Given the description of an element on the screen output the (x, y) to click on. 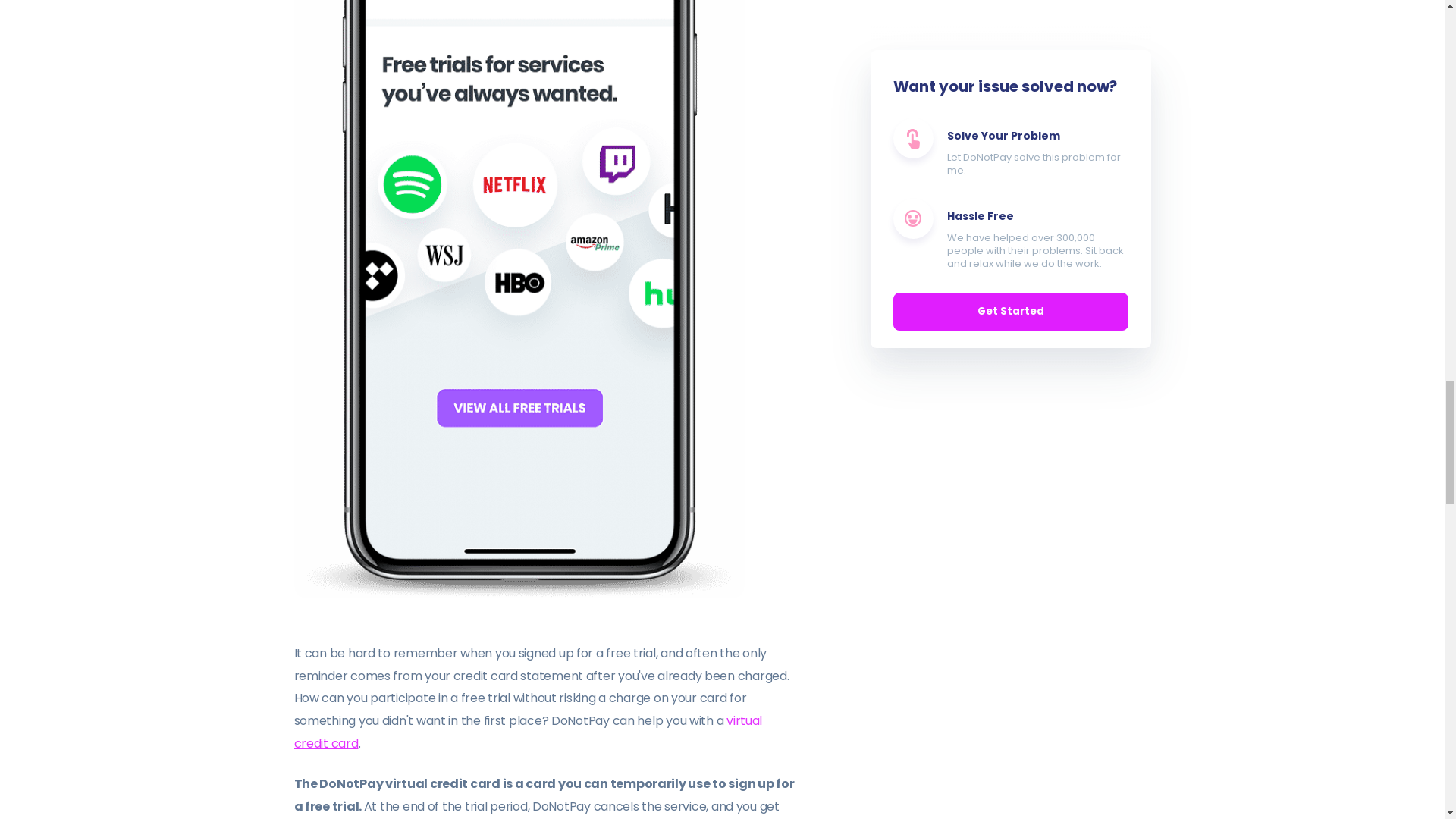
virtual credit card (528, 731)
